Given the description of an element on the screen output the (x, y) to click on. 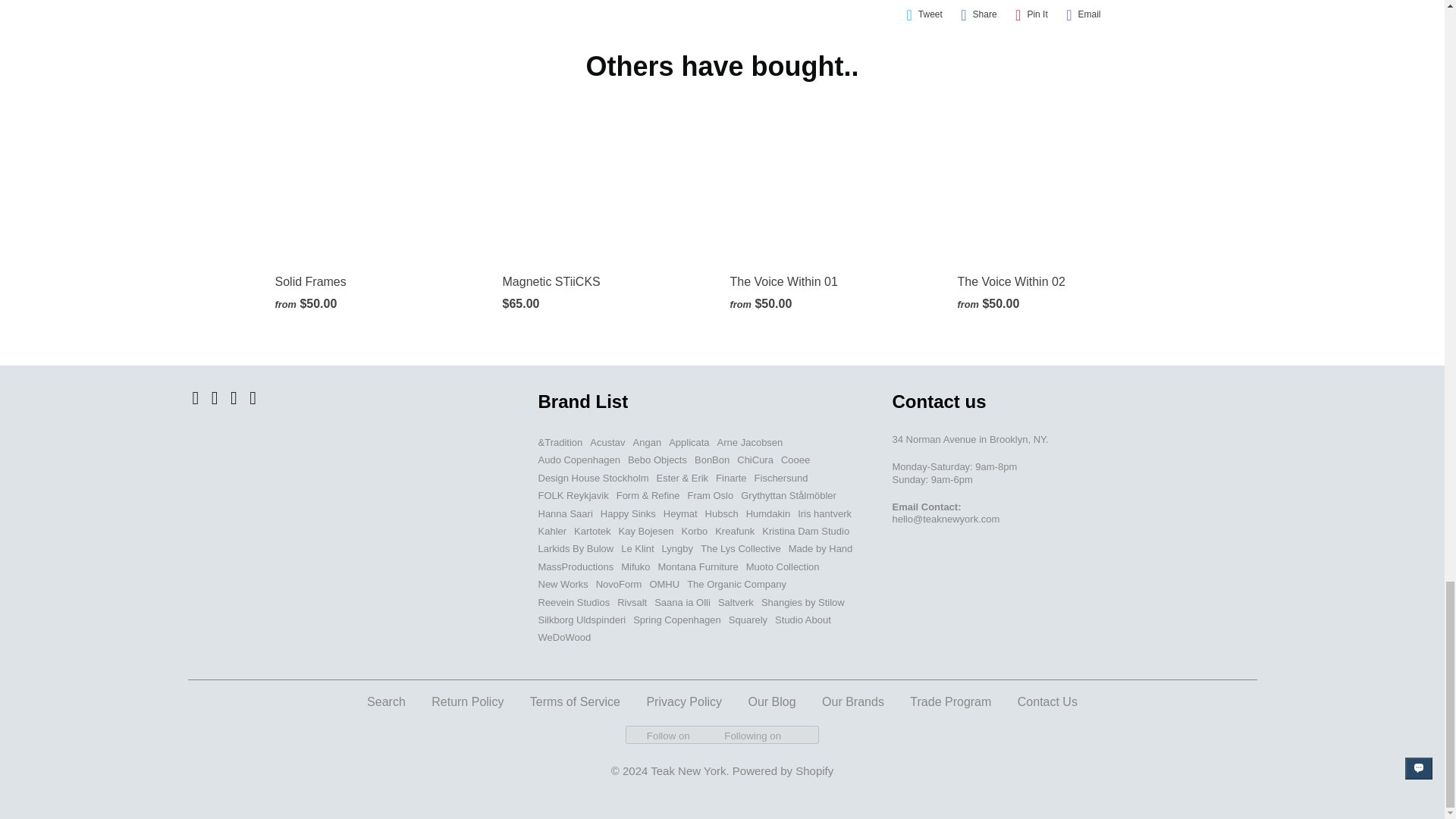
Share this on Facebook (978, 14)
Share (978, 14)
Share this on Twitter (923, 14)
Tweet (923, 14)
Share this on Pinterest (1031, 14)
Email this to a friend (1083, 14)
